Given the description of an element on the screen output the (x, y) to click on. 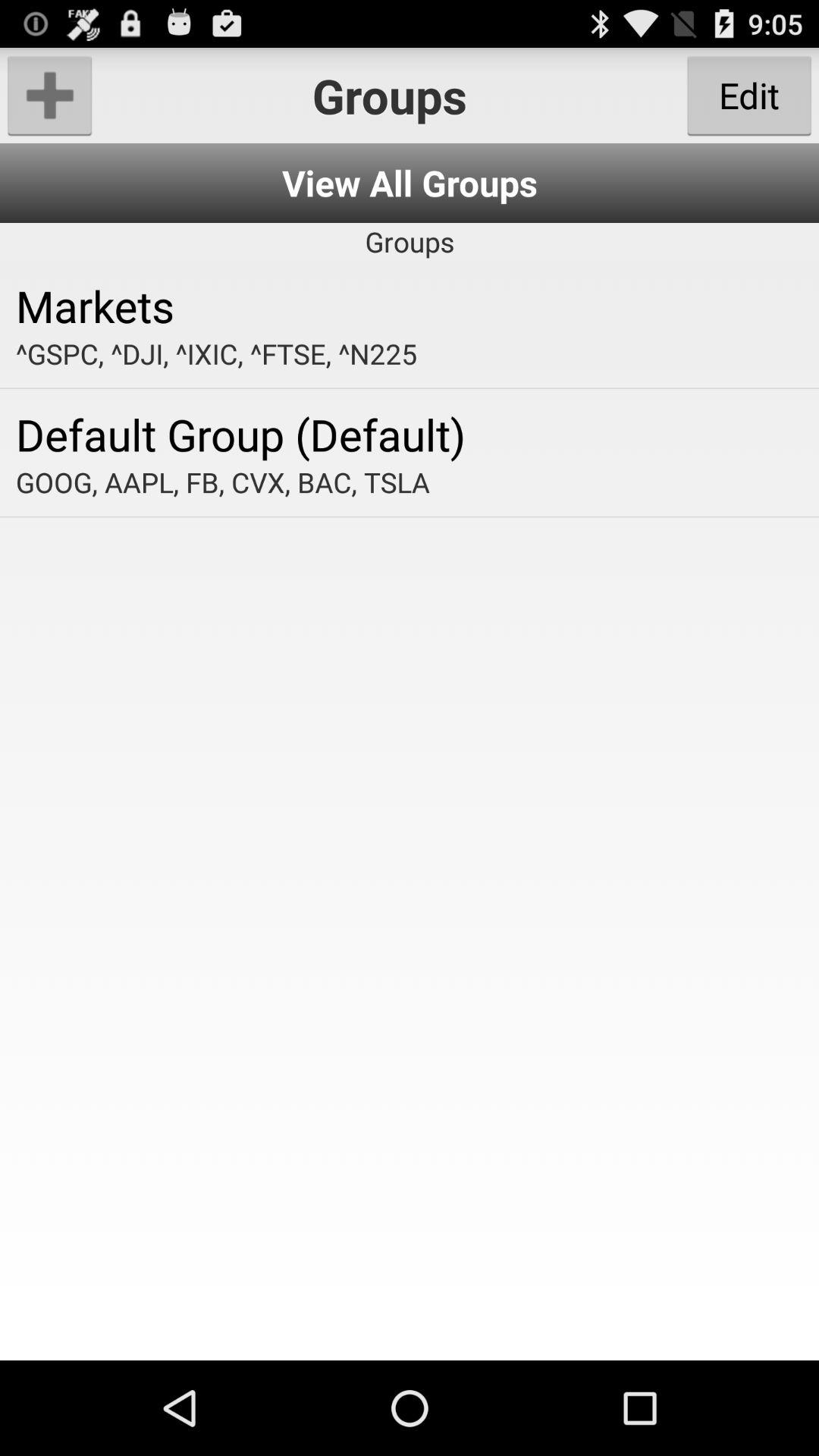
open the app above the groups (409, 182)
